Given the description of an element on the screen output the (x, y) to click on. 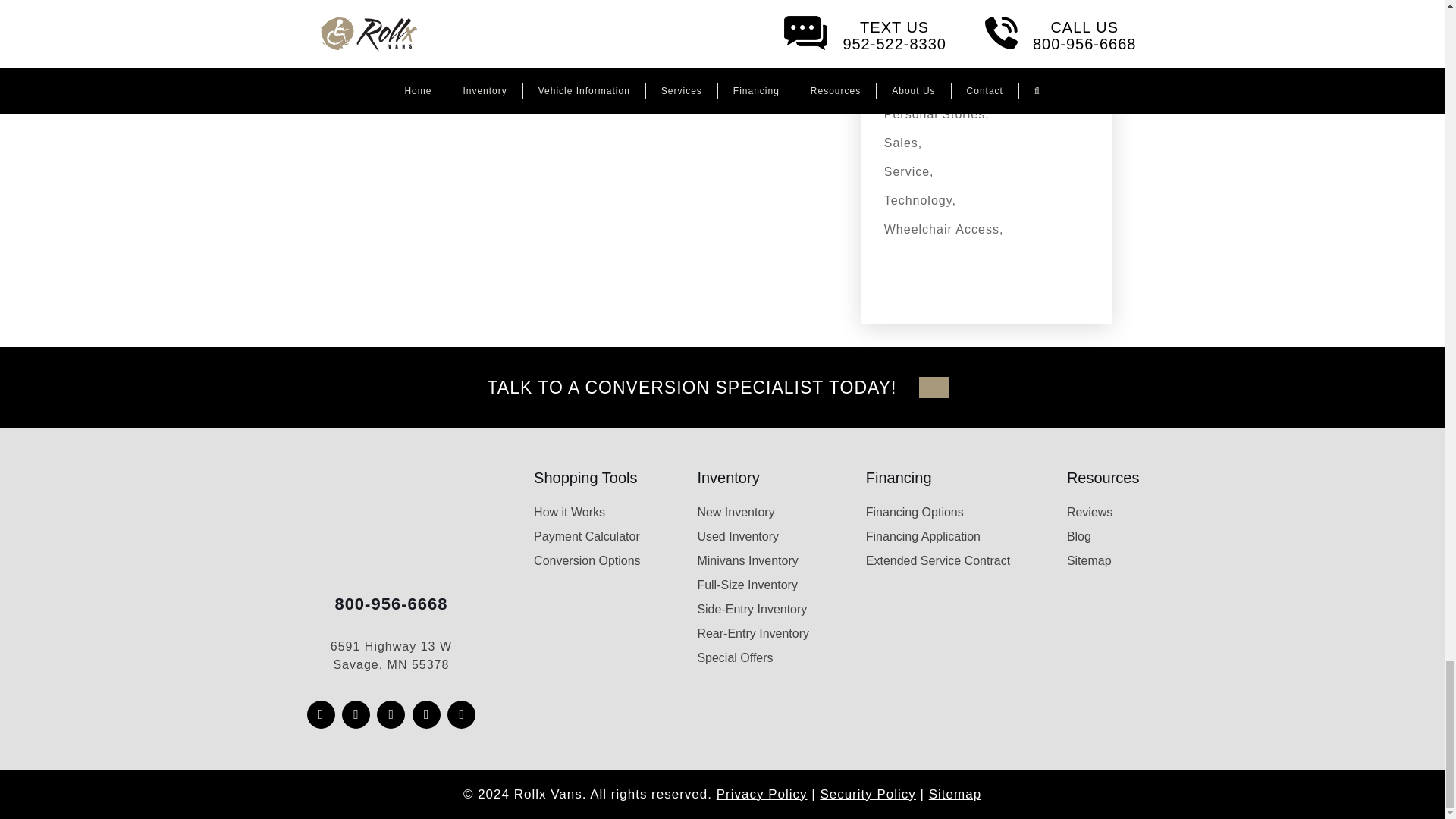
Payment Calculator (587, 535)
Phone Number (390, 604)
